Given the description of an element on the screen output the (x, y) to click on. 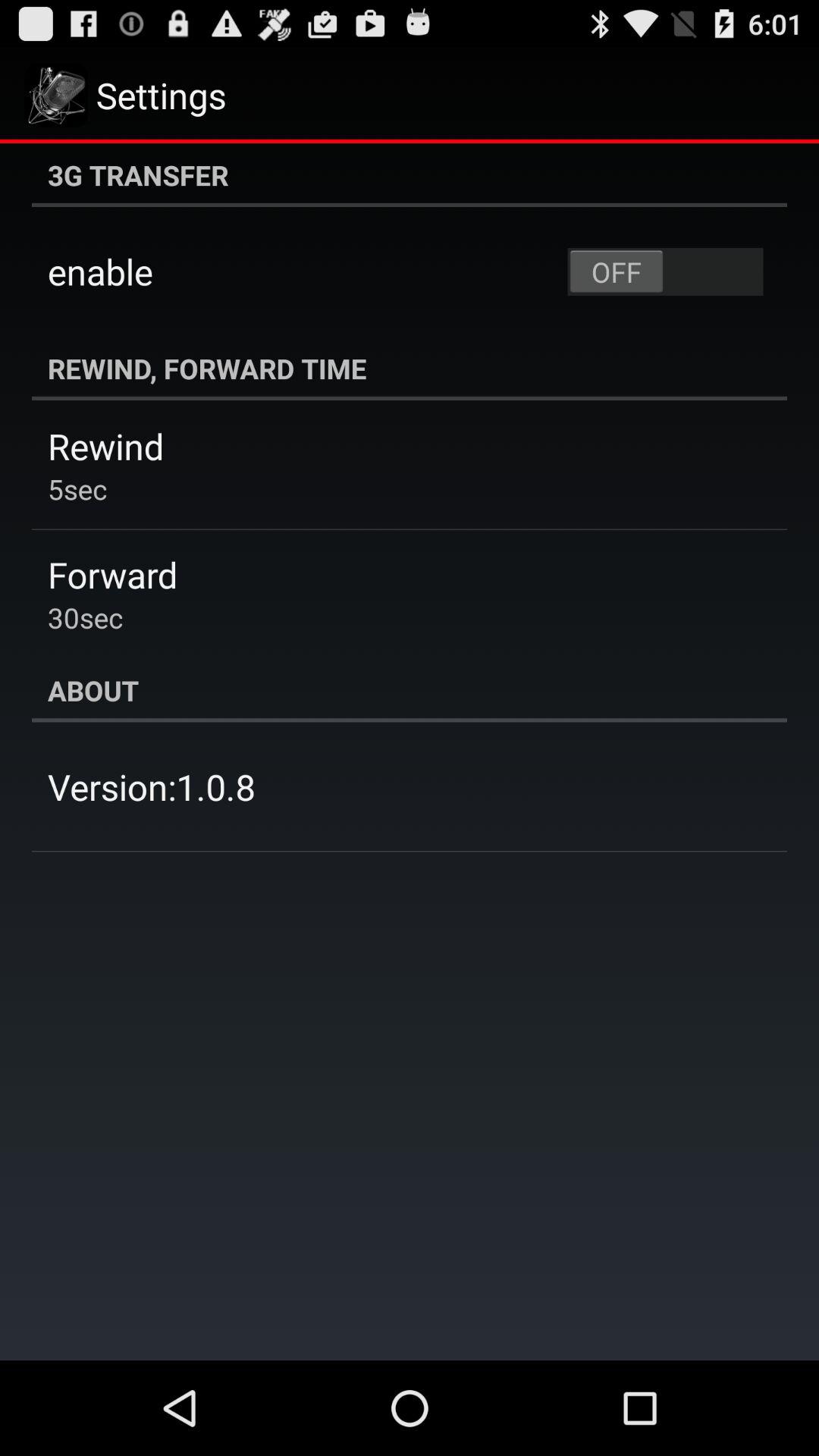
swipe to 5sec app (77, 488)
